Given the description of an element on the screen output the (x, y) to click on. 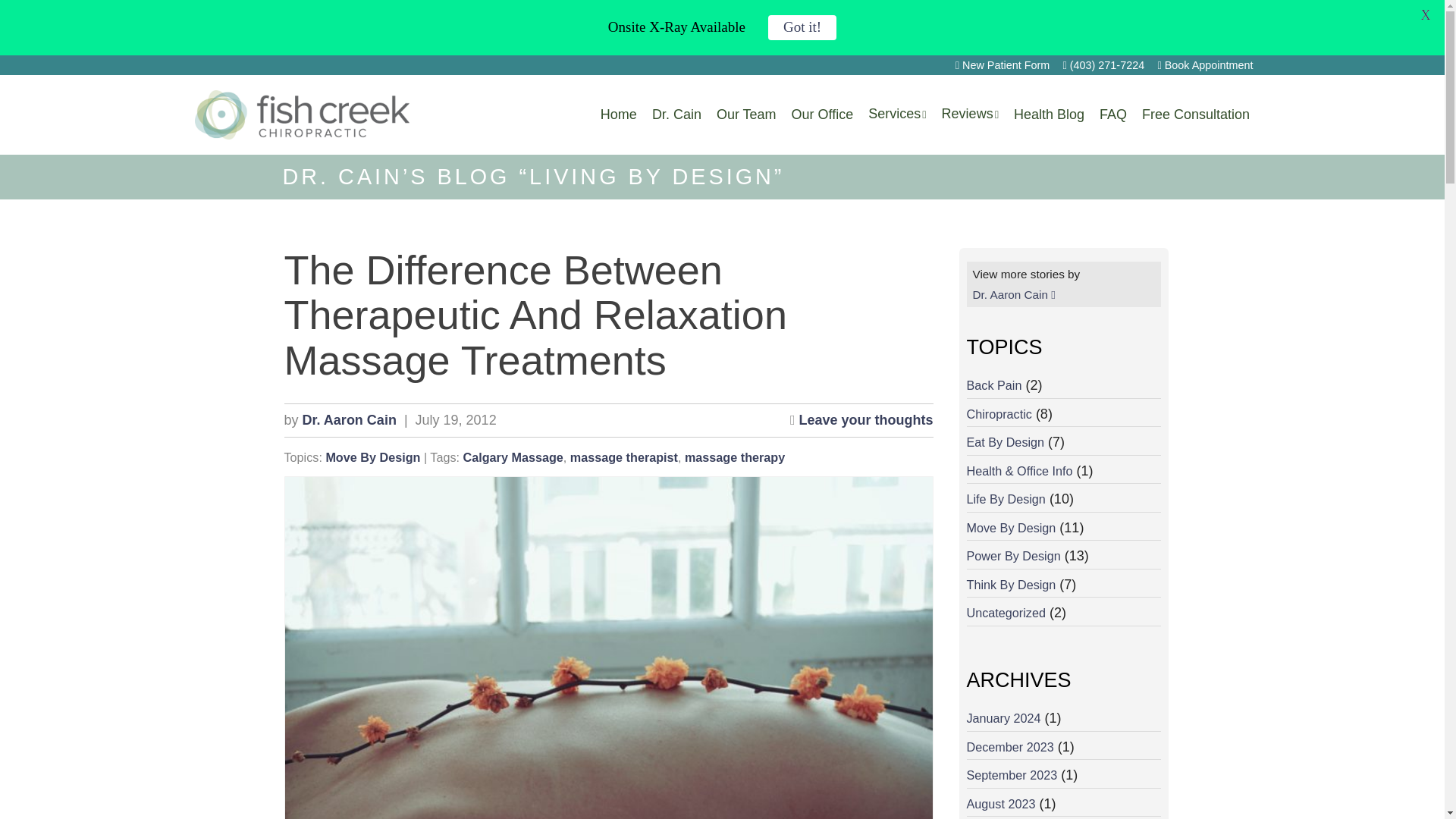
Fish Creek Chiropractic (301, 114)
